Given the description of an element on the screen output the (x, y) to click on. 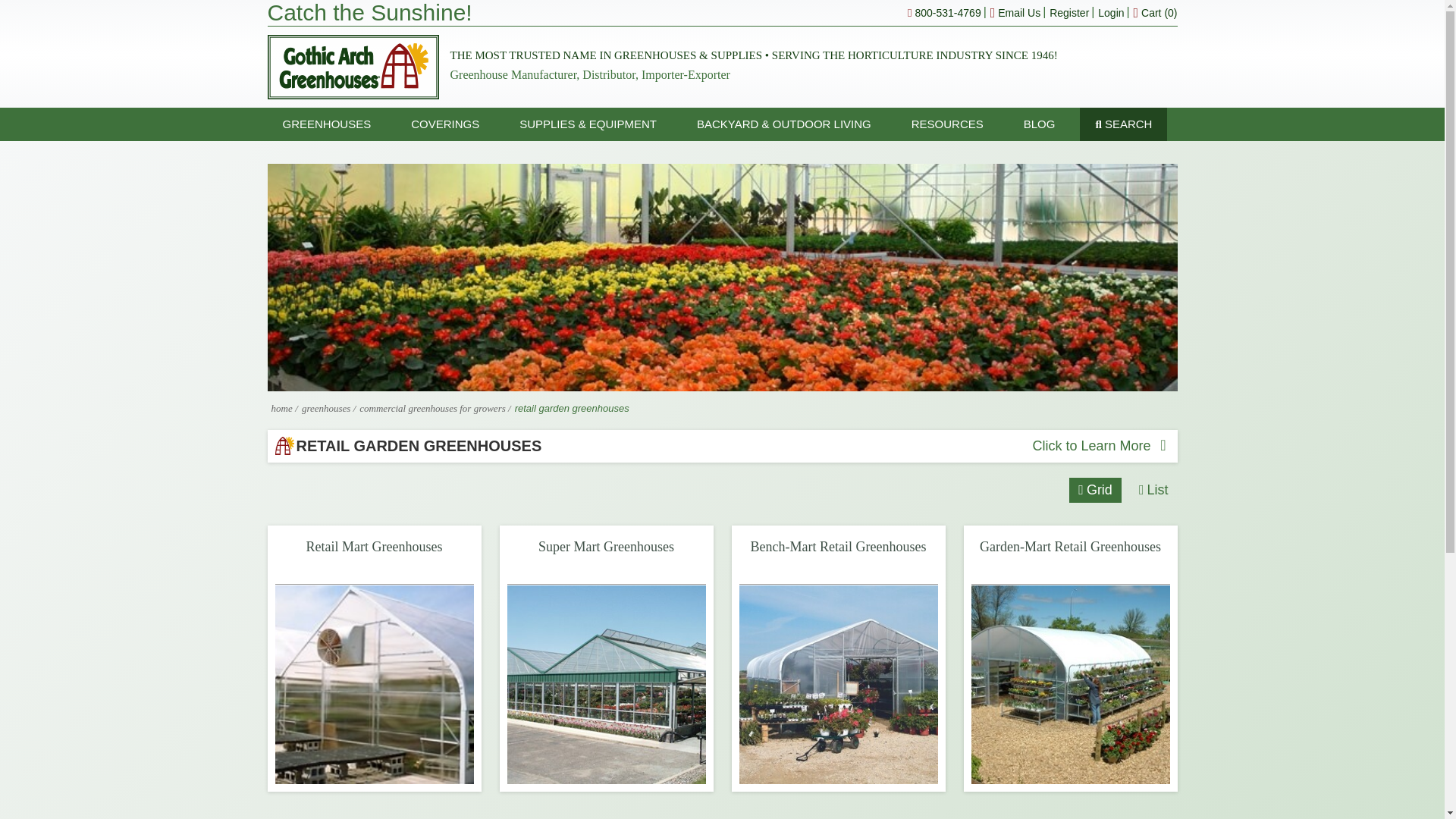
Bench-Mart Retail Greenhouse (837, 684)
Home (281, 408)
GREENHOUSES (325, 123)
Register (1069, 12)
Commercial Greenhouses for Growers (433, 408)
800-531-4769 (944, 12)
Garden-Mart  Retail Greenhouses (1070, 684)
COVERINGS (445, 123)
 Gothic Arch Greenhouses (352, 67)
Email Us (1015, 12)
